Given the description of an element on the screen output the (x, y) to click on. 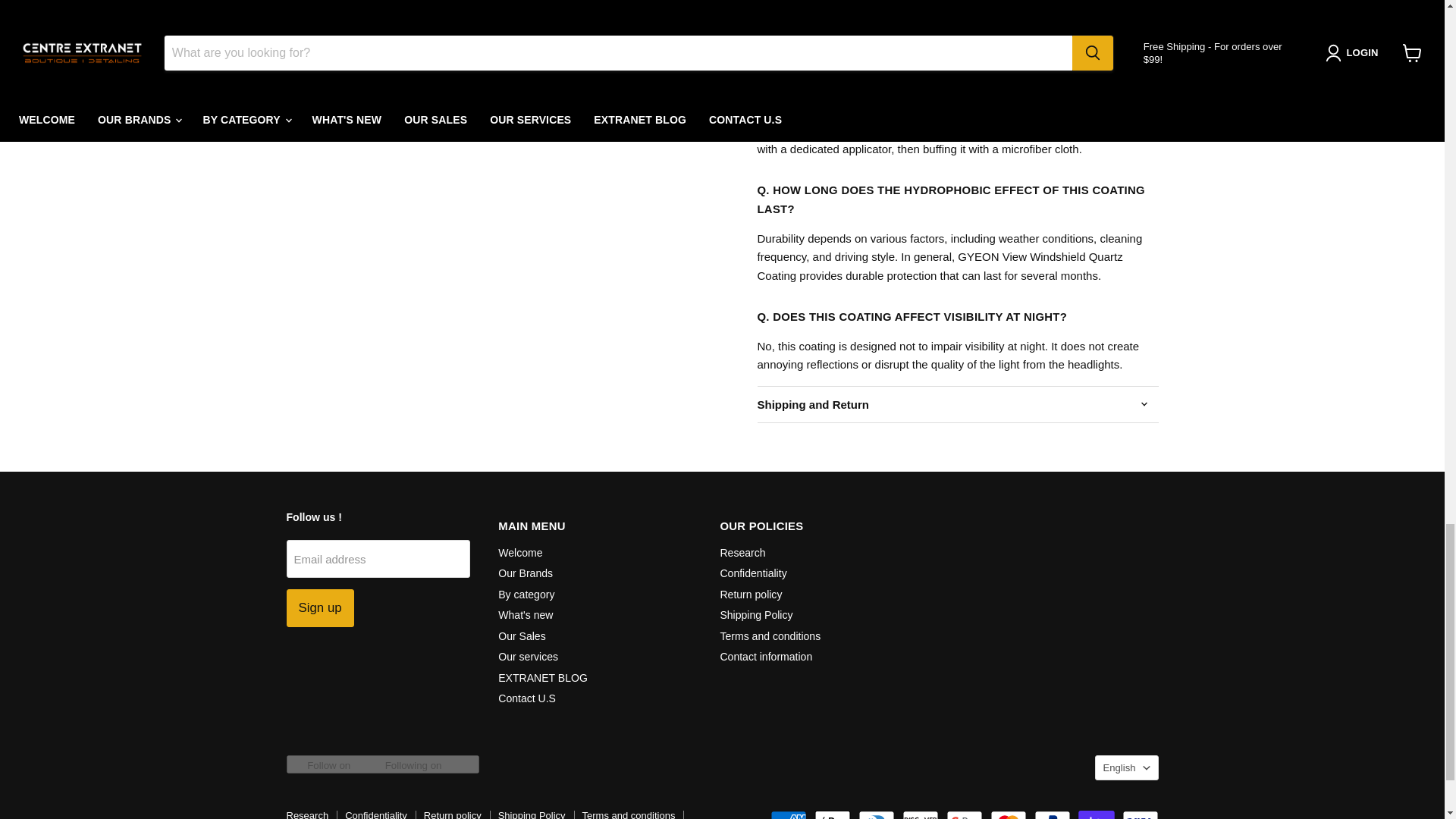
Google Pay (964, 814)
Visa (1140, 814)
Diners Club (877, 814)
PayPal (1051, 814)
Mastercard (1008, 814)
Shop Pay (1096, 814)
American Express (788, 814)
Apple Pay (831, 814)
Discover (920, 814)
